Given the description of an element on the screen output the (x, y) to click on. 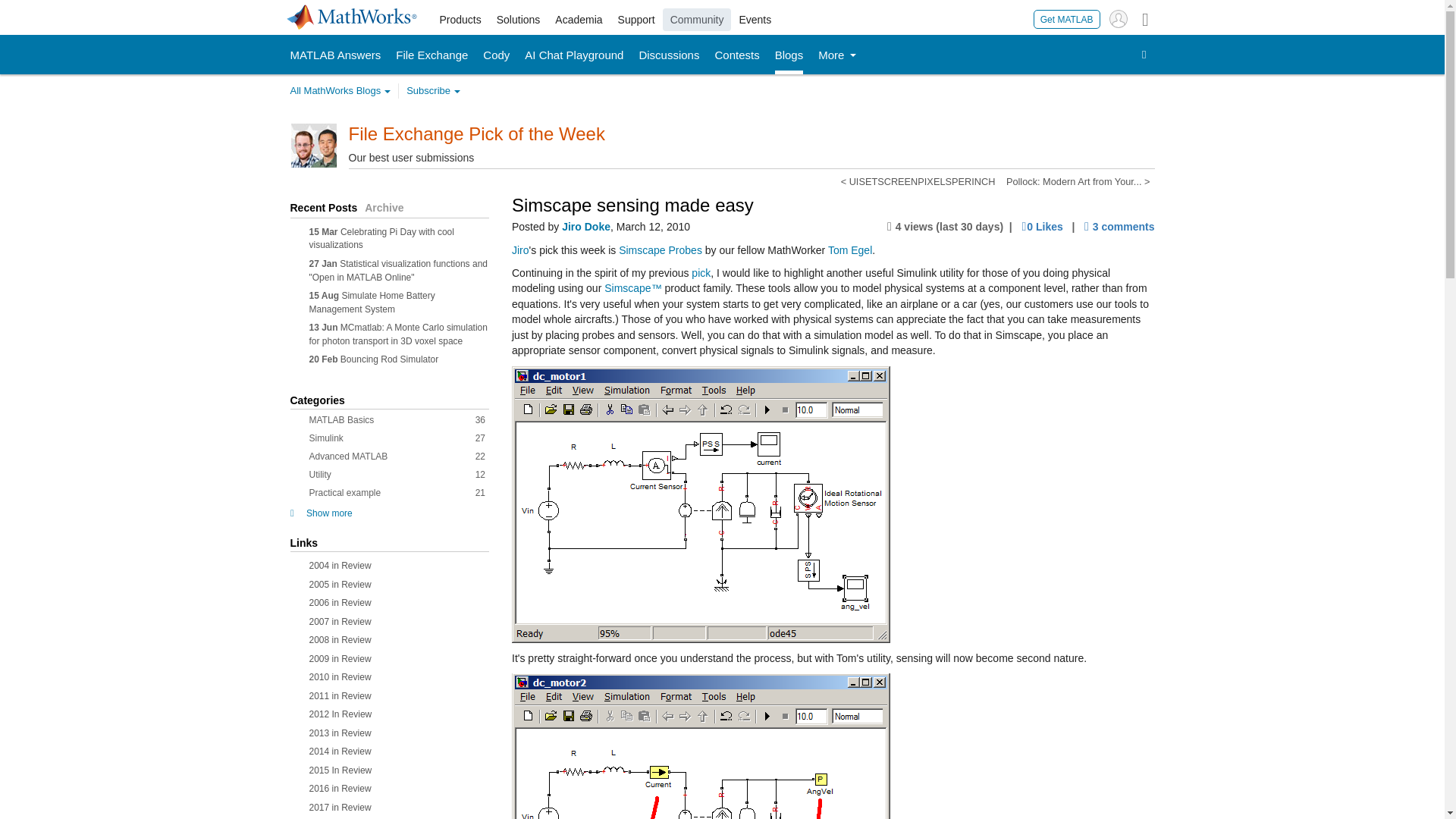
Community (697, 19)
Support (636, 19)
Solutions (518, 19)
Matrix Menu (1144, 18)
Events (754, 19)
Academia (578, 19)
Get MATLAB (1066, 18)
Products (460, 19)
